Given the description of an element on the screen output the (x, y) to click on. 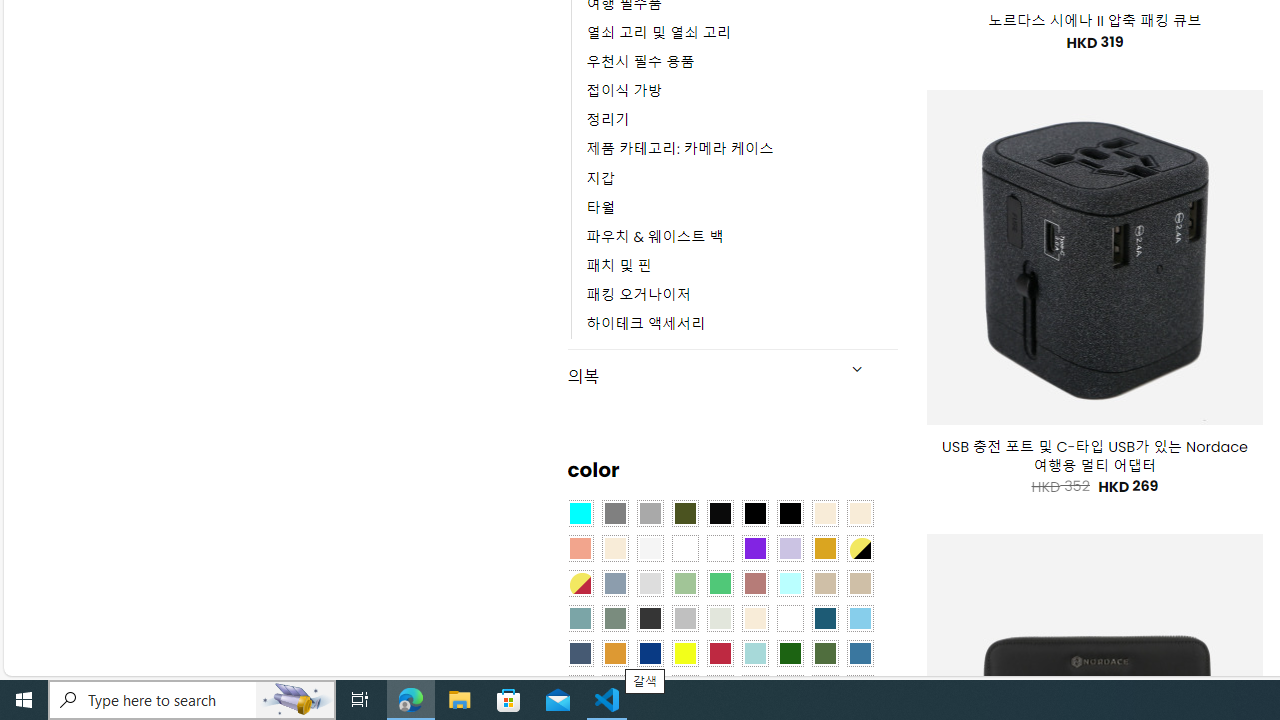
Purple (755, 548)
